Given the description of an element on the screen output the (x, y) to click on. 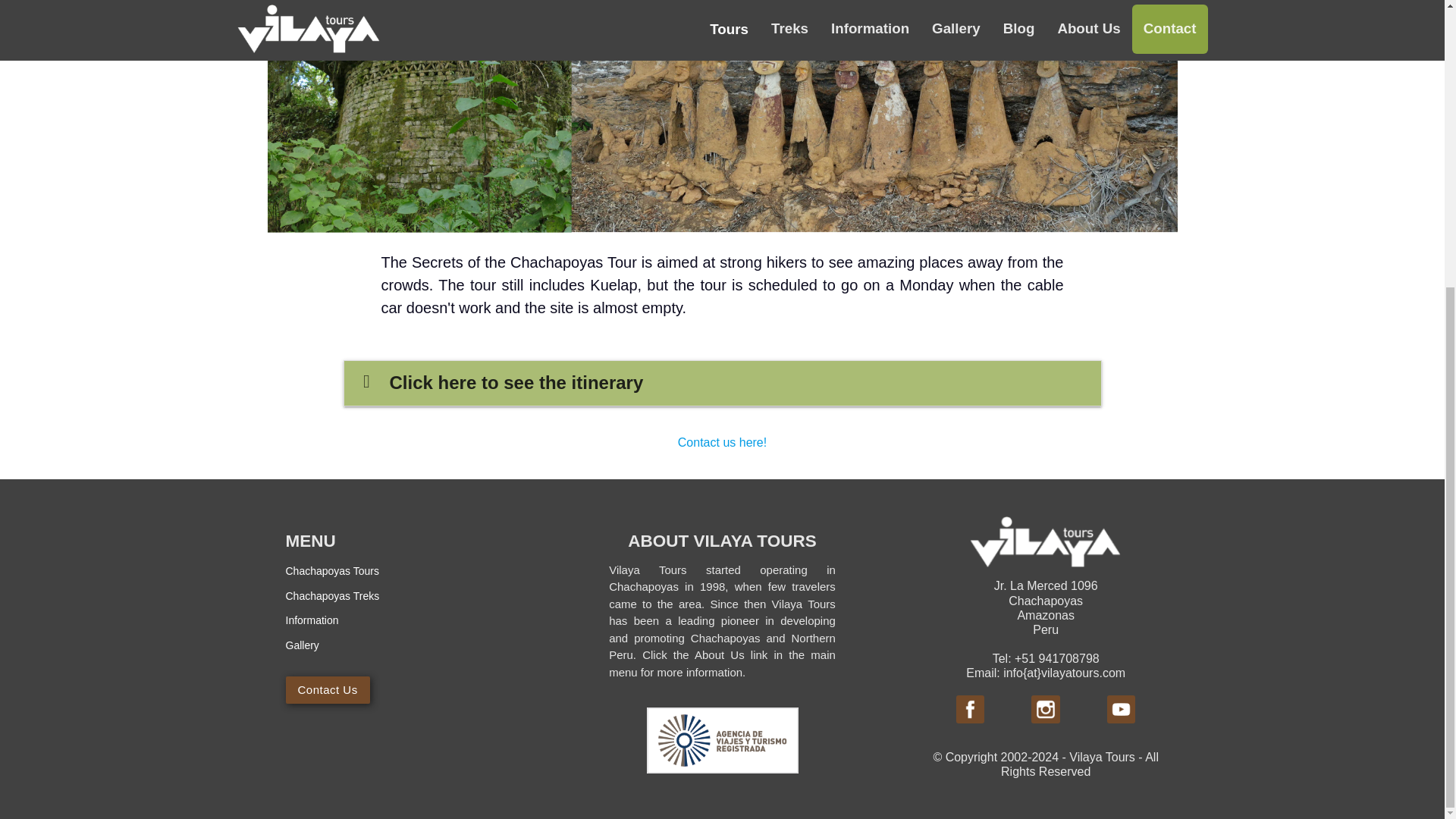
chachapoyas-information (311, 620)
Contact us here! (721, 443)
Contact Us (327, 689)
gallery (301, 645)
chachapoyas-treks (331, 595)
Instagram Link (1044, 709)
Gallery (301, 645)
Chachapoyas Treks (331, 595)
Youtube Link (1120, 709)
Chachapoyas Tours (331, 571)
